Given the description of an element on the screen output the (x, y) to click on. 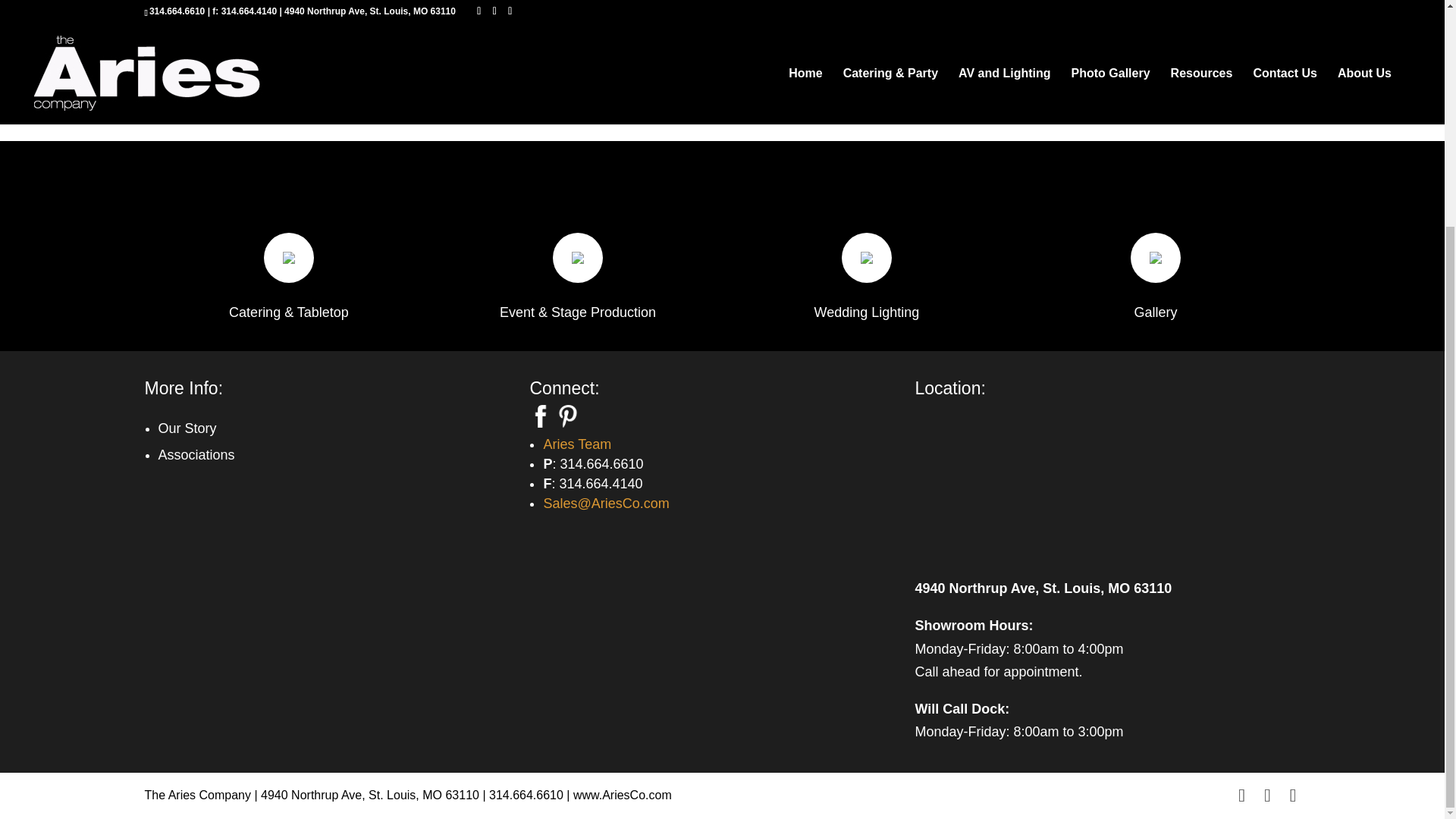
Back (159, 37)
Wedding Lighting (866, 312)
Our Story (186, 427)
Aries Team (577, 444)
Gallery (1155, 312)
Associations (195, 454)
